Given the description of an element on the screen output the (x, y) to click on. 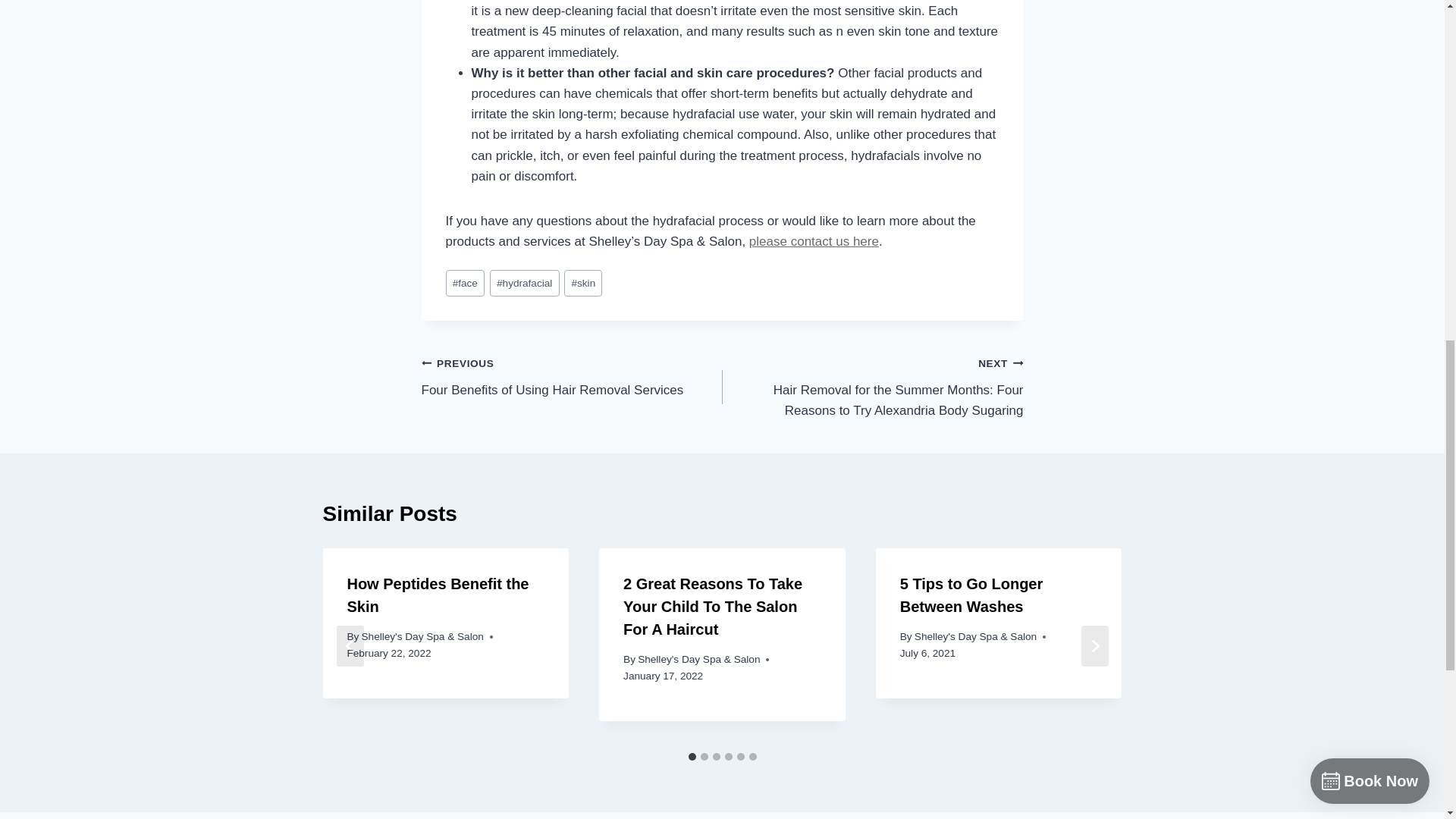
skin (572, 376)
please contact us here (583, 283)
face (814, 241)
hydrafacial (464, 283)
